Given the description of an element on the screen output the (x, y) to click on. 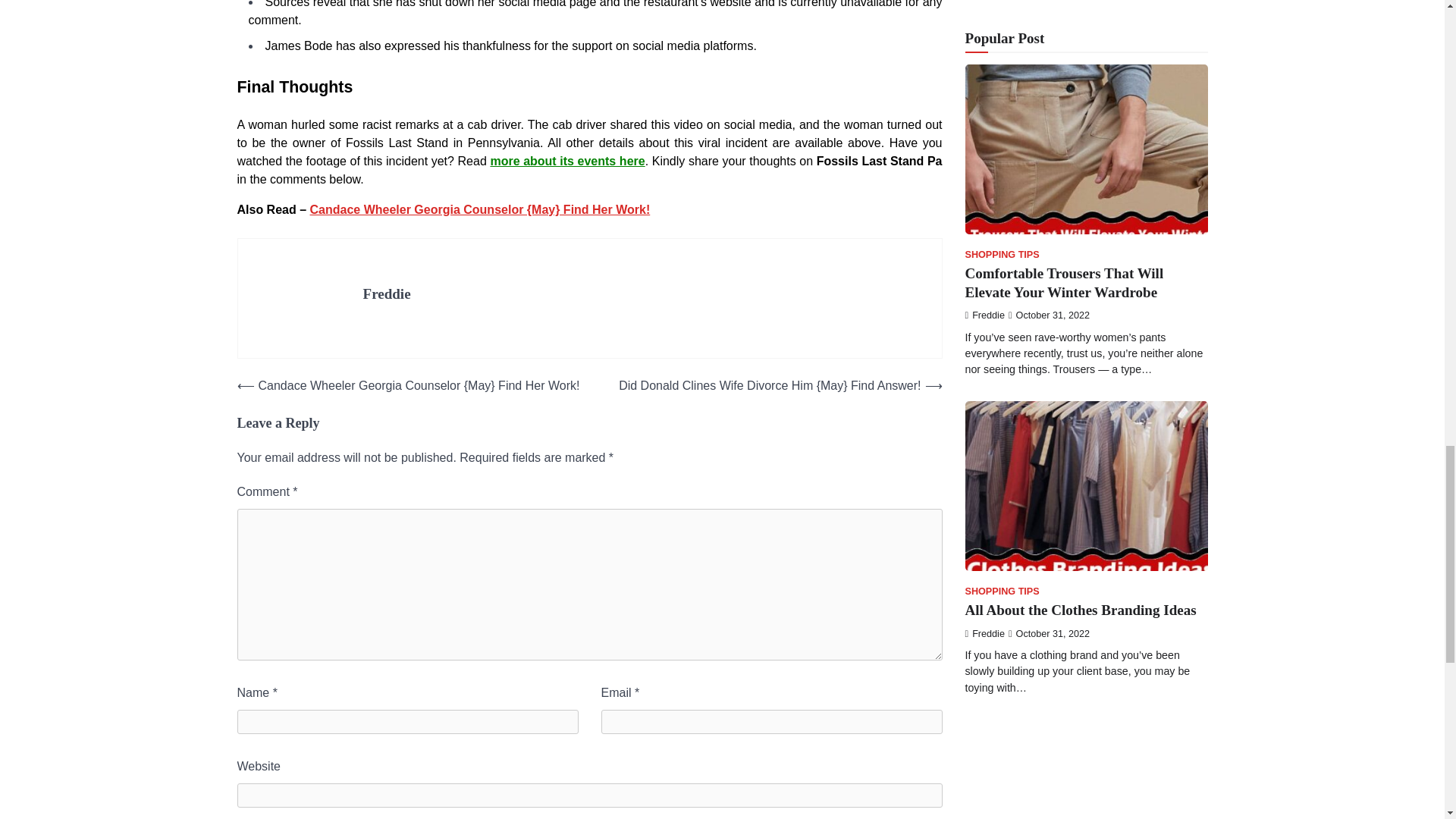
more about its events here (567, 160)
